Given the description of an element on the screen output the (x, y) to click on. 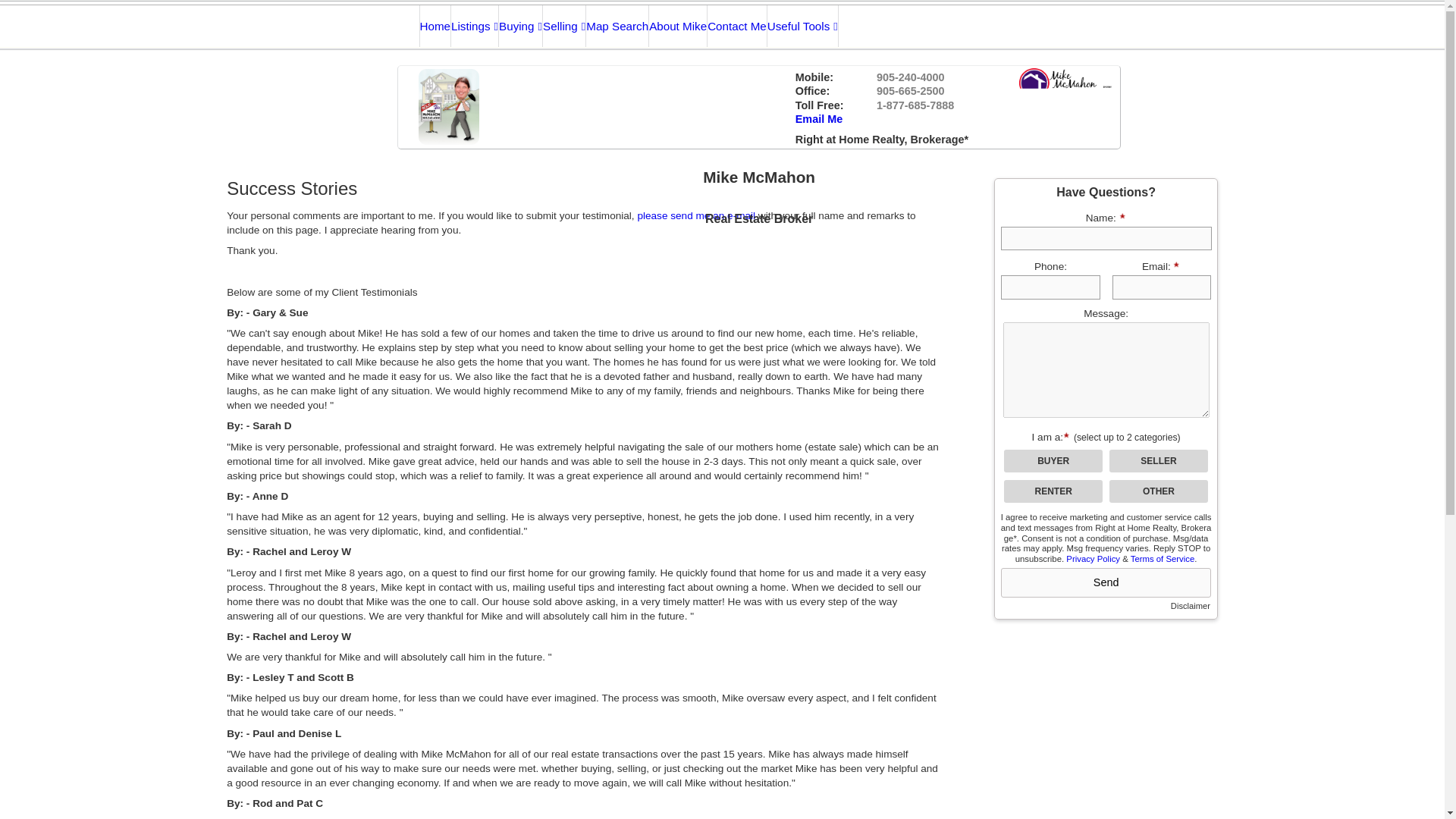
About Mike (678, 25)
Listings (475, 25)
Buying (521, 25)
Buying (521, 25)
Map Search (617, 25)
please send me an e-mail (696, 215)
Listings (475, 25)
Privacy Policy (1091, 558)
Selling (564, 25)
Selling (564, 25)
1-877-685-7888 (914, 105)
Contact Me (737, 25)
Send (1106, 582)
905-240-4000 (910, 77)
Email Me (818, 119)
